Given the description of an element on the screen output the (x, y) to click on. 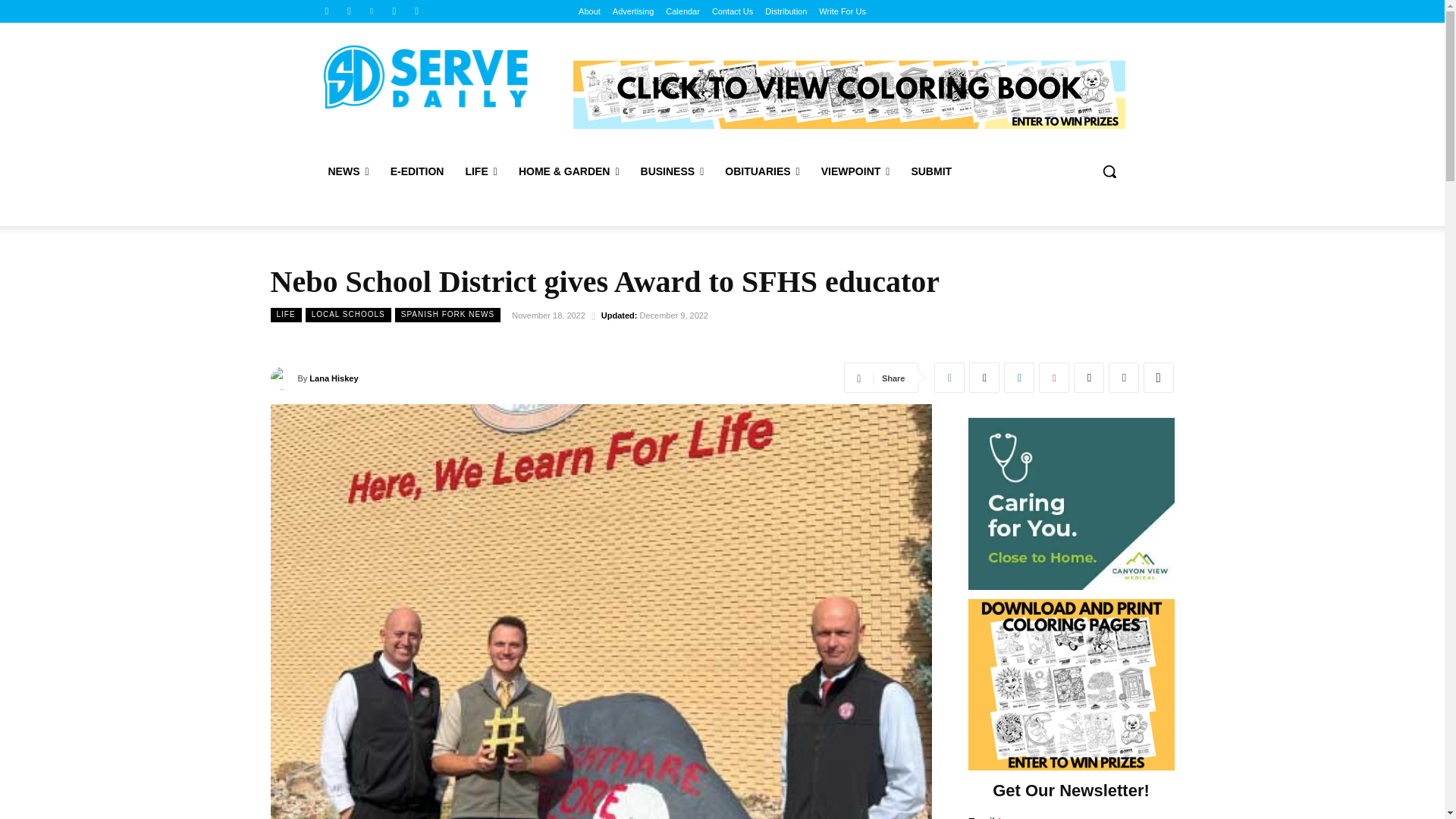
Linkedin (371, 10)
Twitter (394, 10)
Instagram (348, 10)
Facebook (326, 10)
